Given the description of an element on the screen output the (x, y) to click on. 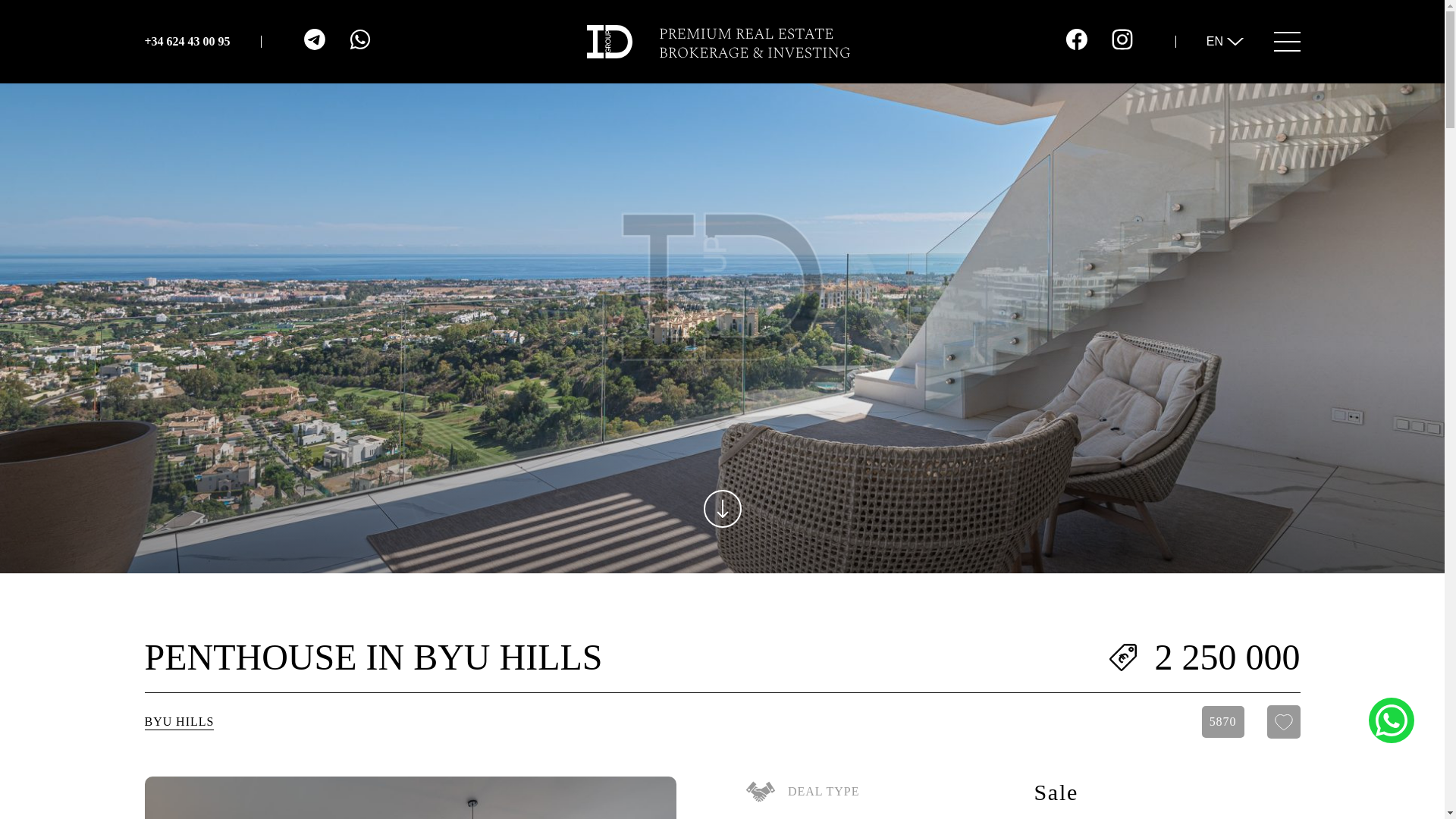
BYU HILLS (179, 721)
